Given the description of an element on the screen output the (x, y) to click on. 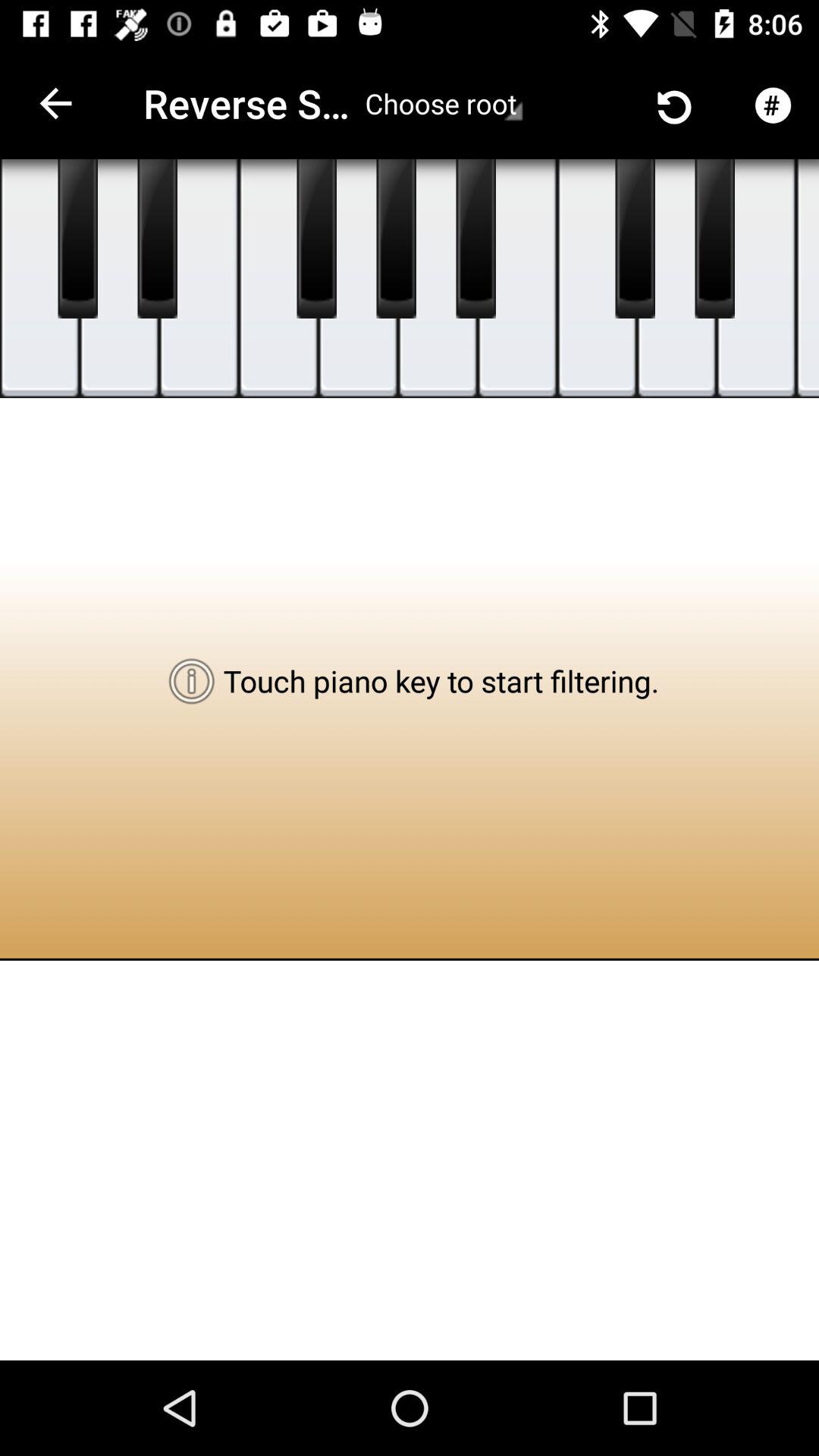
start filtering (39, 278)
